Given the description of an element on the screen output the (x, y) to click on. 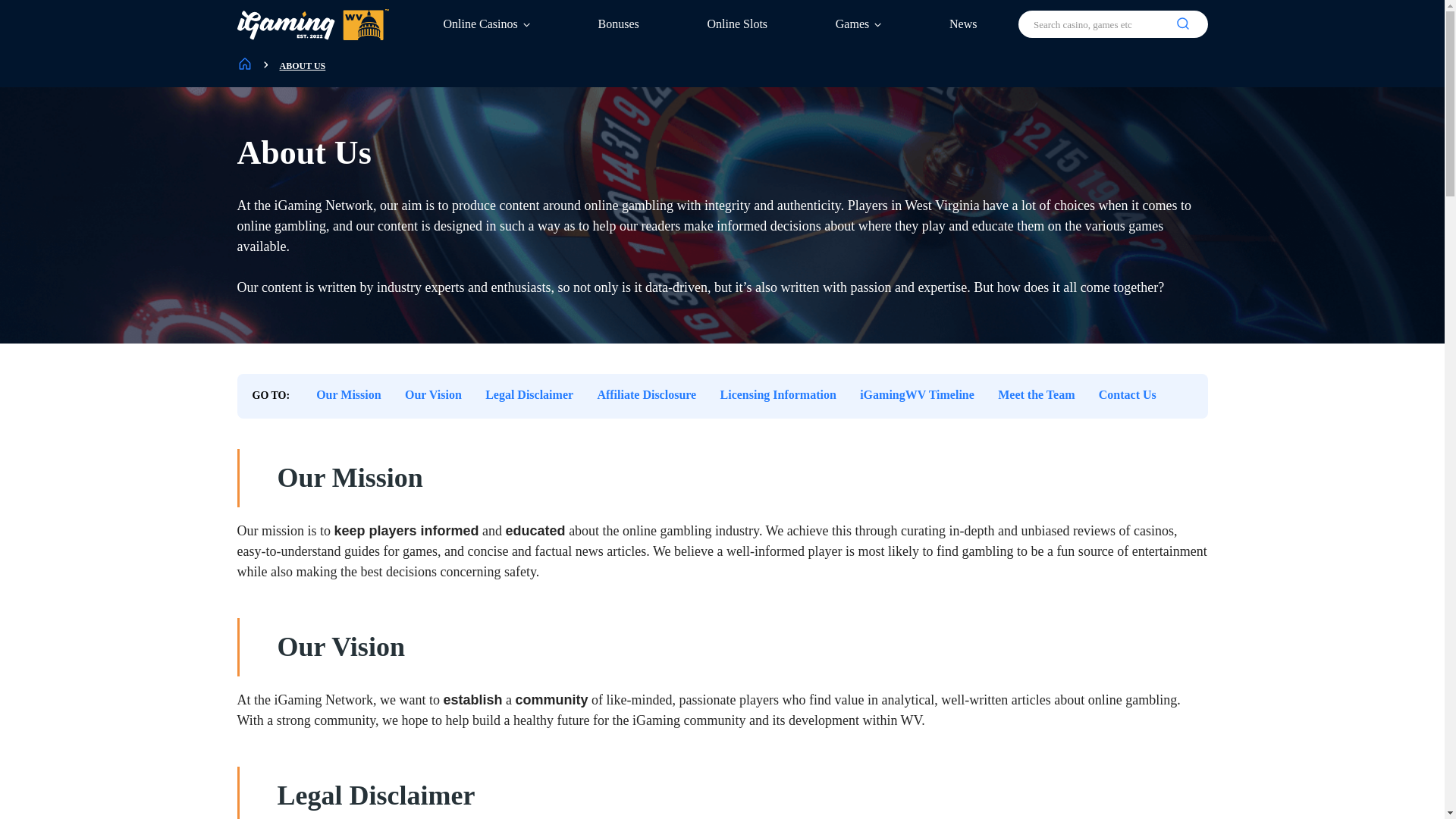
Licensing Information (778, 395)
Bonuses (617, 23)
iGamingWV Timeline (917, 395)
Our Vision (433, 395)
Legal Disclaimer (528, 395)
Affiliate Disclosure (646, 395)
News (962, 23)
Our Mission (349, 395)
Online Casinos (485, 23)
Games (857, 23)
Meet the Team (1036, 395)
ABOUT US (301, 65)
Contact Us (1127, 395)
Online Slots (736, 23)
